Given the description of an element on the screen output the (x, y) to click on. 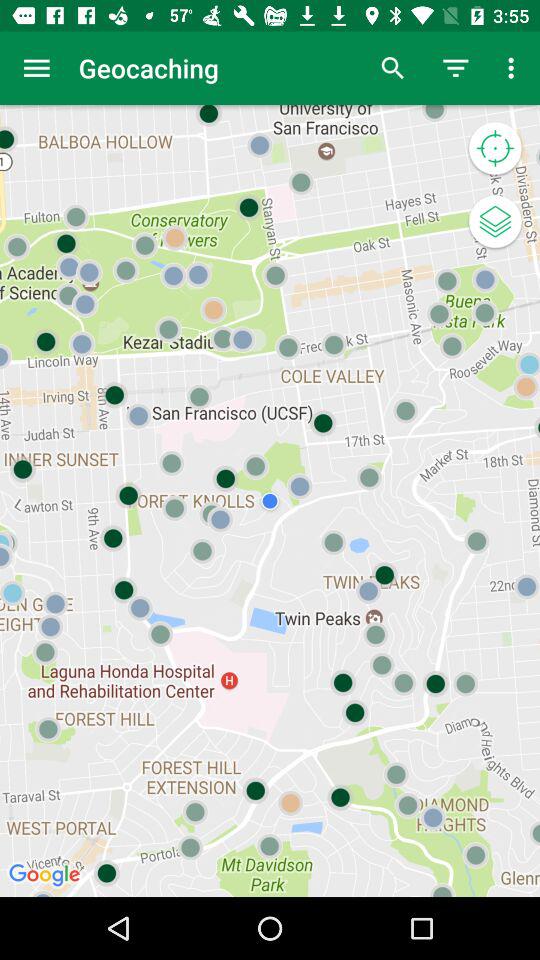
launch item next to the geocaching icon (392, 67)
